Given the description of an element on the screen output the (x, y) to click on. 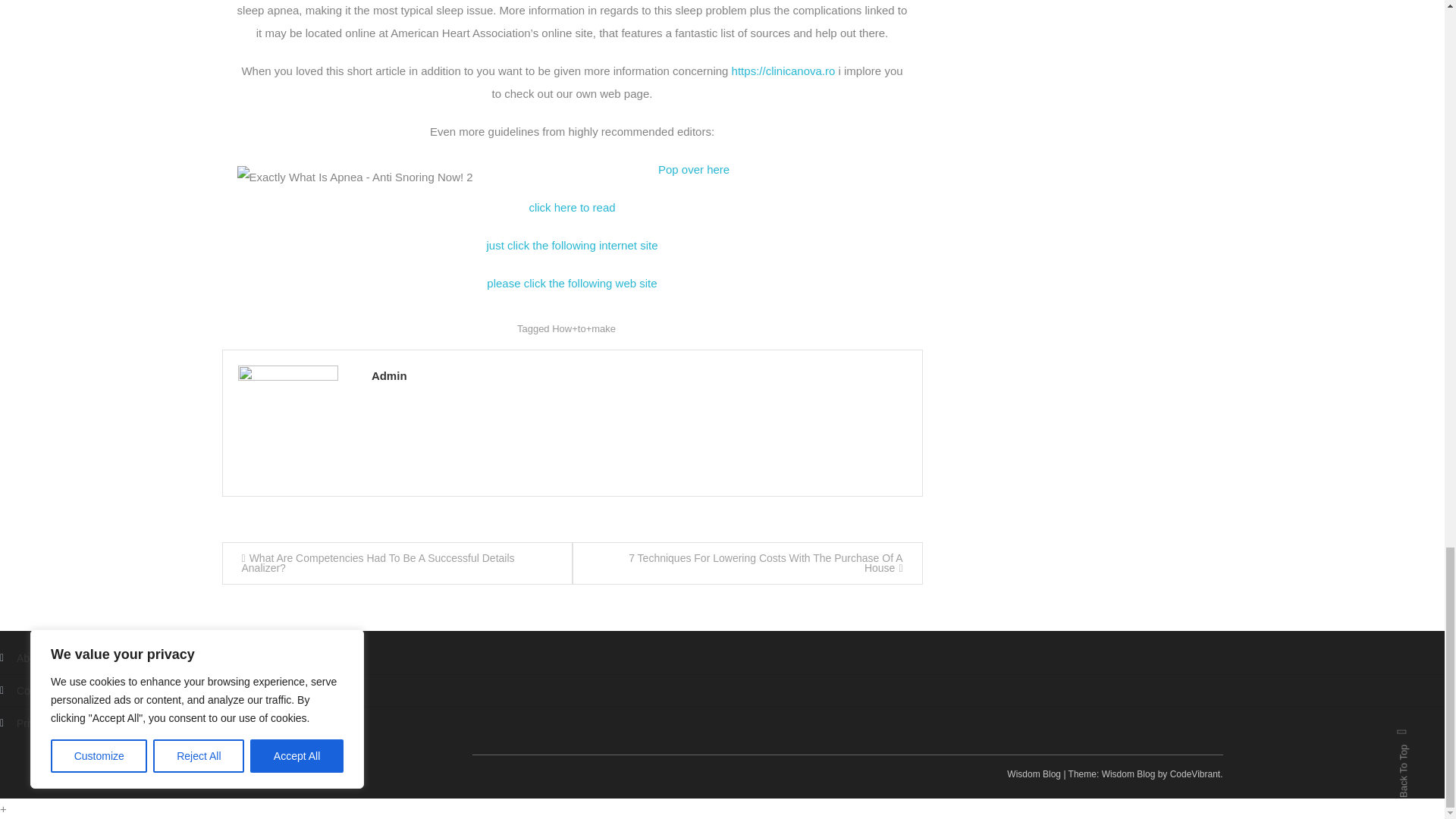
Pop over here (693, 169)
click here to read (571, 206)
please click the following web site (571, 282)
7 Techniques For Lowering Costs With The Purchase Of A House (746, 563)
just click the following internet site (572, 245)
Admin (639, 375)
